Given the description of an element on the screen output the (x, y) to click on. 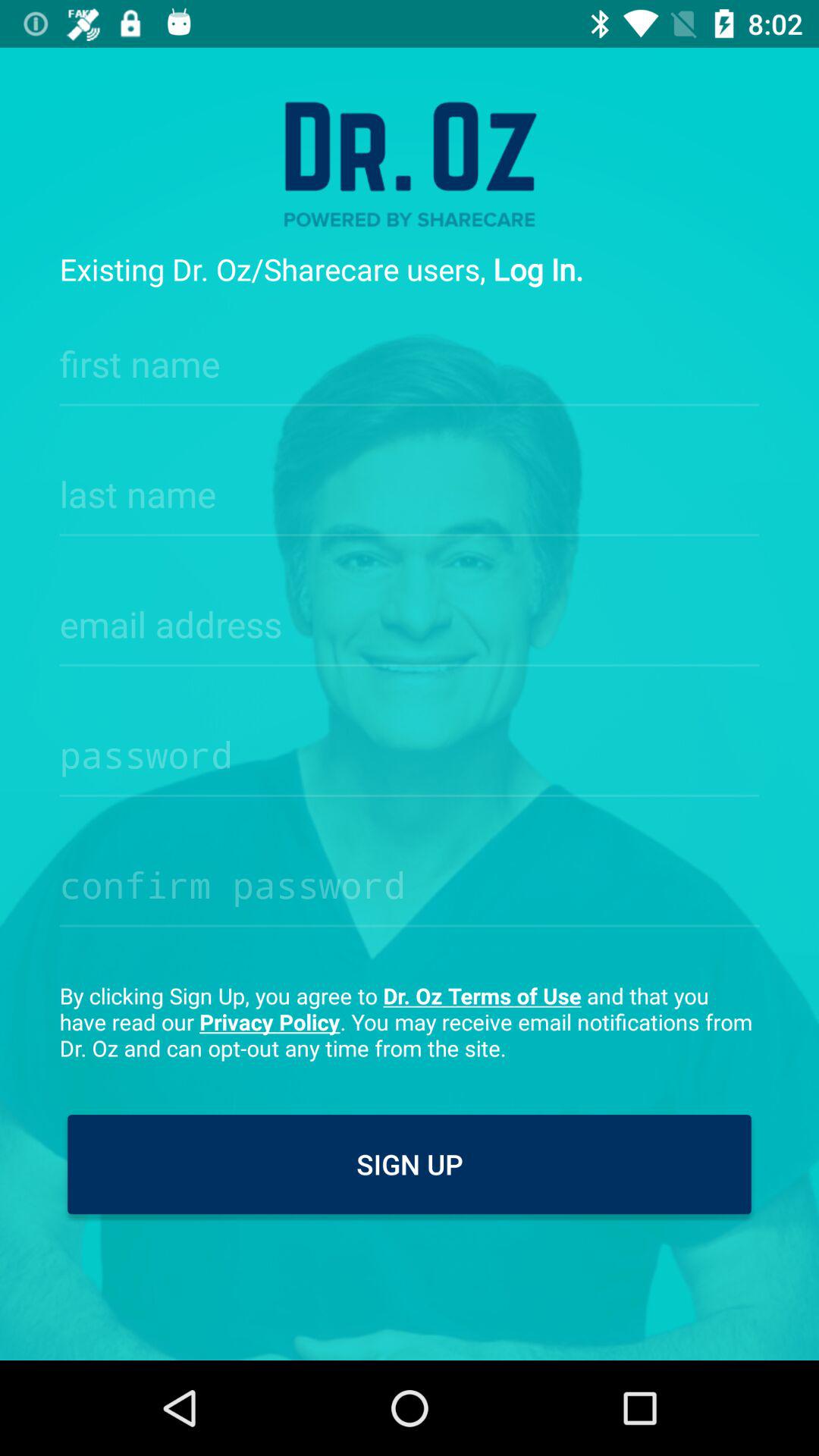
choose the item above sign up (409, 1021)
